Given the description of an element on the screen output the (x, y) to click on. 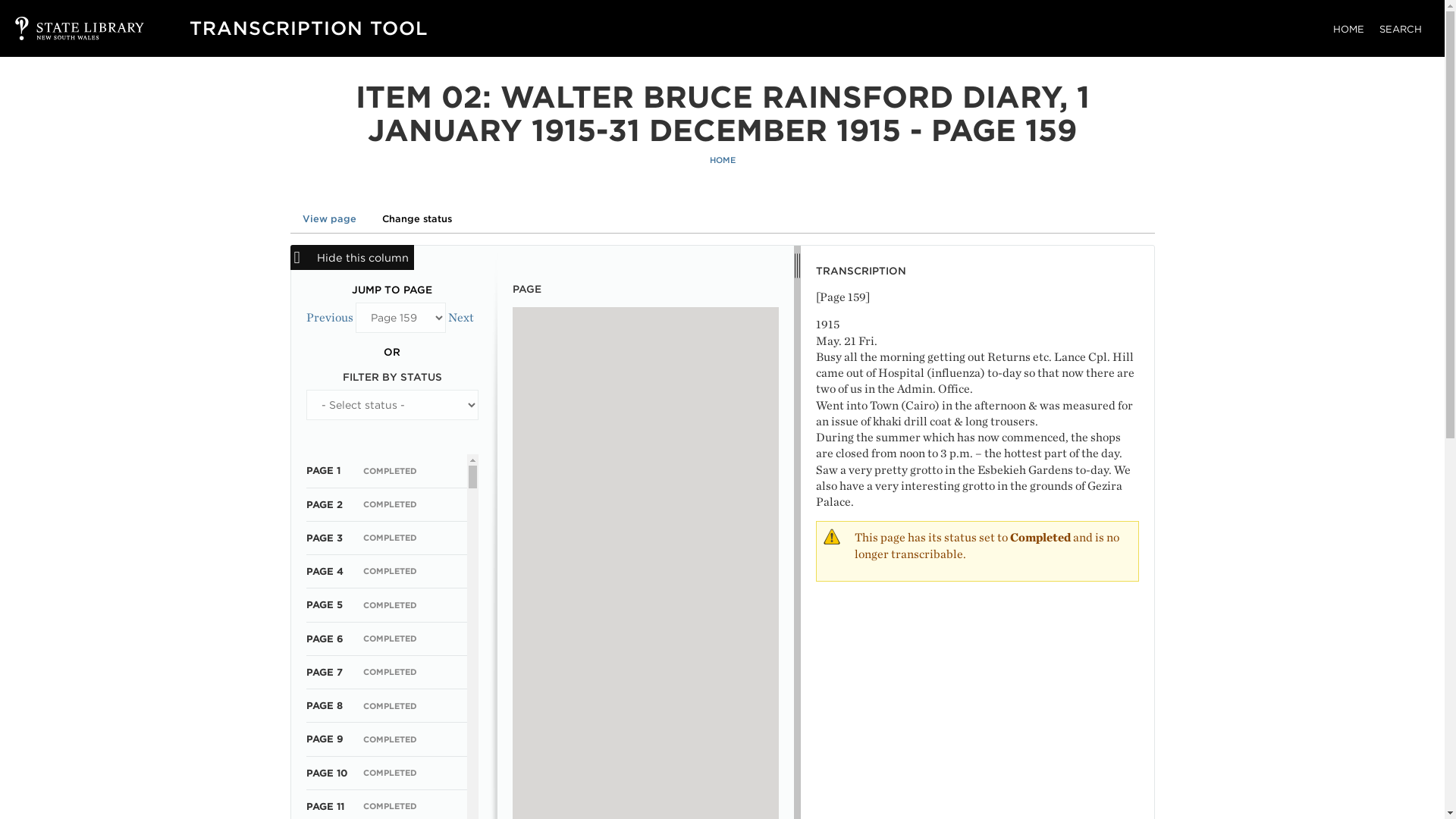
PAGE 2 (323, 504)
Previous (329, 317)
State Library of NSW (64, 28)
PAGE 3 (323, 537)
PAGE 8 (323, 705)
Next (459, 317)
TRANSCRIPTION TOOL (308, 27)
PAGE 1 (322, 470)
SEARCH (1400, 29)
PAGE 11 (324, 806)
